Given the description of an element on the screen output the (x, y) to click on. 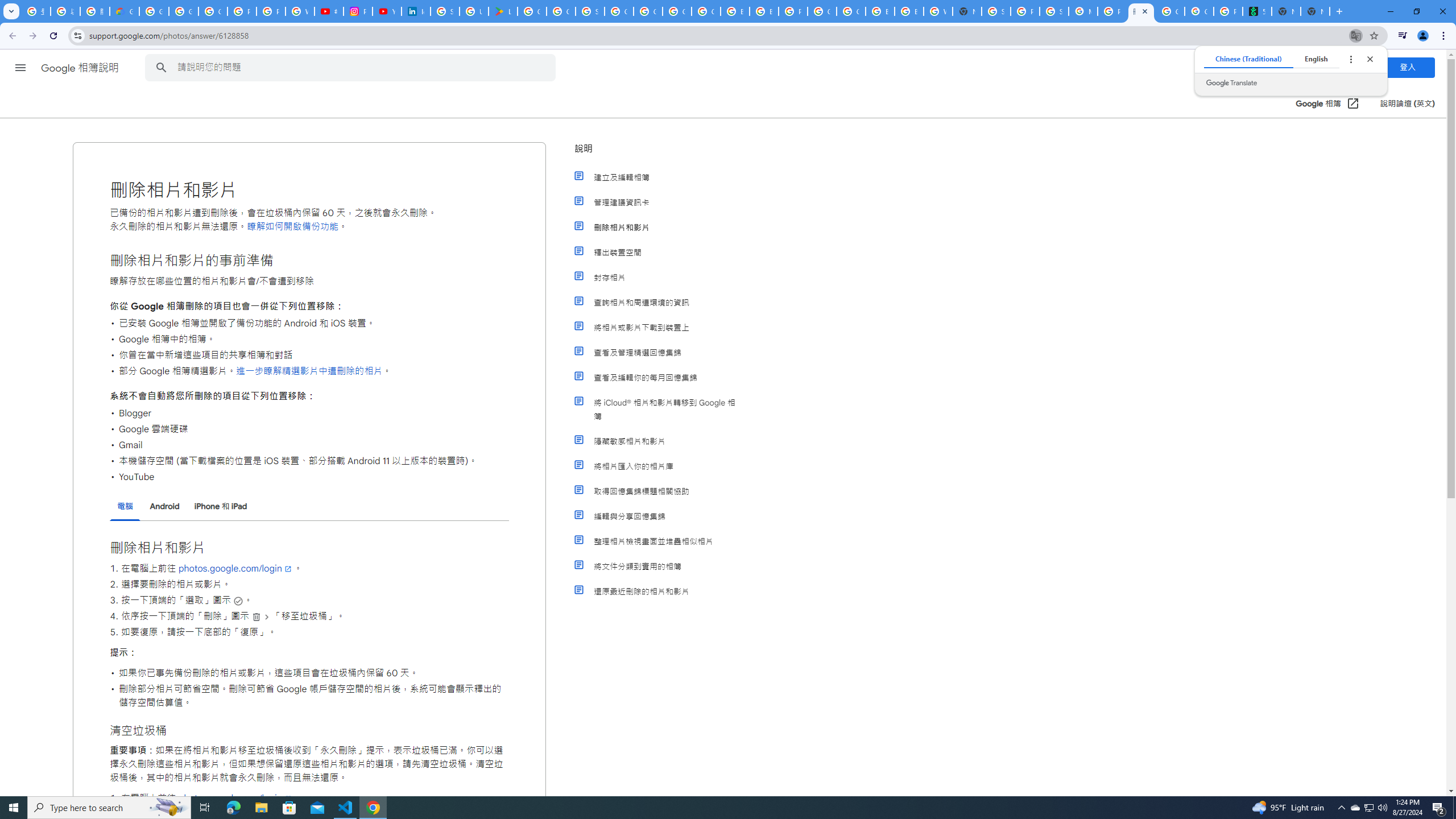
Google Cloud Platform (648, 11)
Browse Chrome as a guest - Computer - Google Chrome Help (908, 11)
Google Workspace - Specific Terms (560, 11)
